Given the description of an element on the screen output the (x, y) to click on. 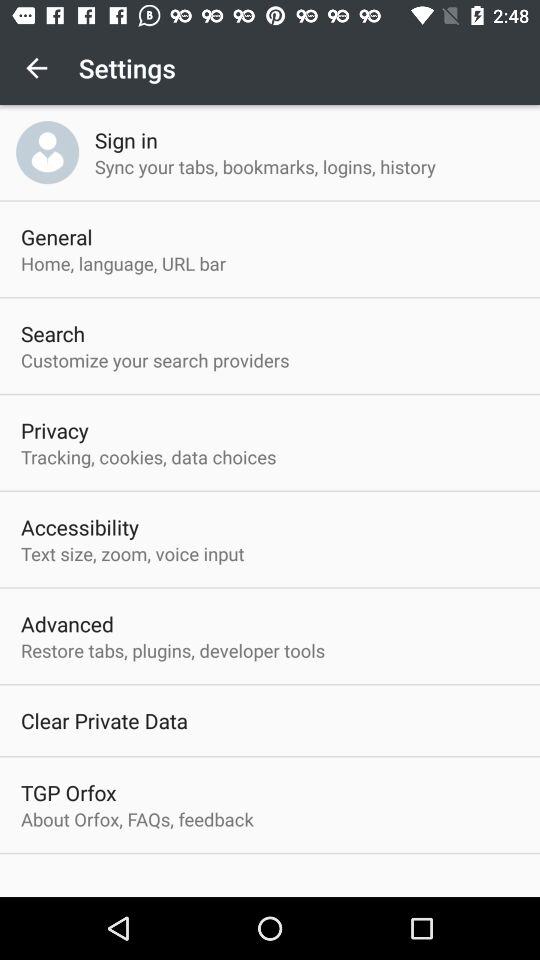
turn on the app above the advanced icon (132, 553)
